Given the description of an element on the screen output the (x, y) to click on. 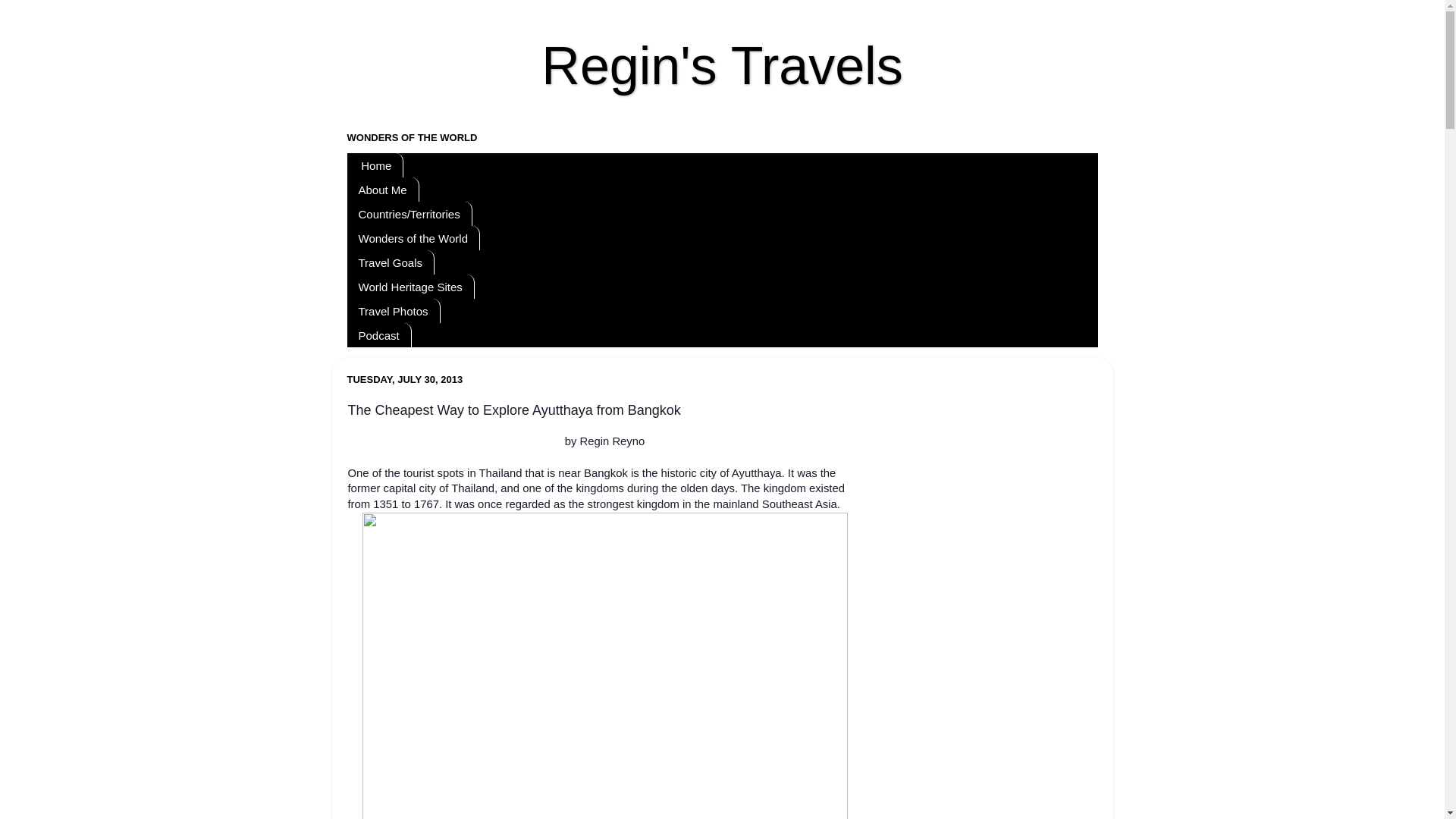
Podcast (379, 334)
Home (375, 165)
World Heritage Sites (410, 286)
Travel Goals (390, 262)
Travel Photos (394, 310)
About Me (383, 189)
Wonders of the World (413, 238)
Regin's Travels (721, 65)
